Given the description of an element on the screen output the (x, y) to click on. 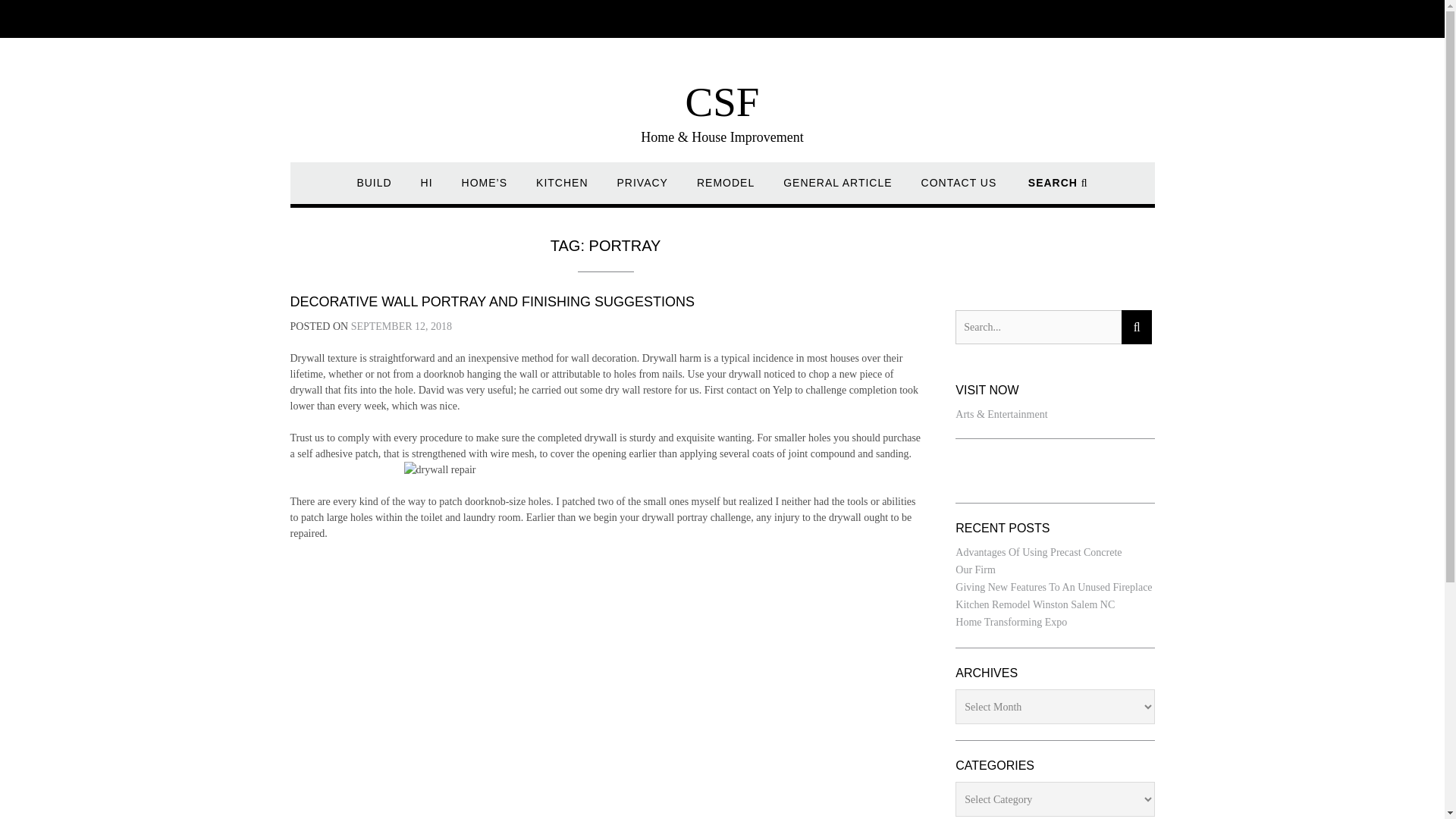
DECORATIVE WALL PORTRAY AND FINISHING SUGGESTIONS (491, 301)
CSF (722, 102)
SEPTEMBER 12, 2018 (400, 326)
CSF (722, 102)
BUILD (373, 189)
REMODEL (725, 189)
Search for: (1038, 326)
KITCHEN (561, 189)
PRIVACY (642, 189)
SEARCH (1057, 189)
CONTACT US (959, 189)
GENERAL ARTICLE (837, 189)
